Given the description of an element on the screen output the (x, y) to click on. 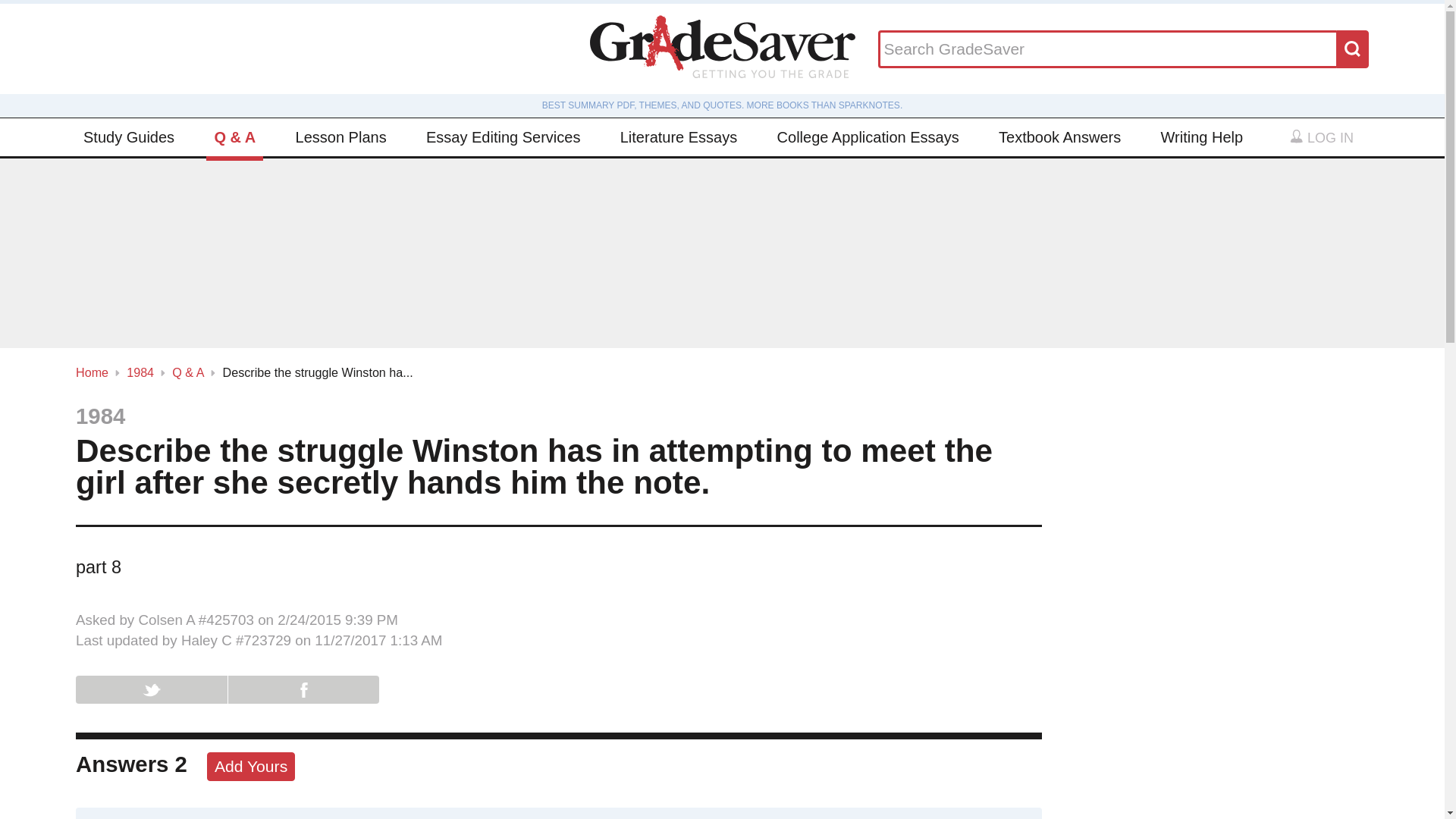
Writing Help (1201, 136)
Study Guides (128, 136)
GradeSaver: Getting you the grade (722, 48)
LOG IN (1321, 138)
Lesson Plans (341, 136)
1984 (140, 372)
Essay Editing Services (503, 136)
College Application Essays (868, 136)
Literature Essays (678, 136)
Textbook Answers (1059, 136)
Home (91, 372)
Add Yours (250, 766)
